Given the description of an element on the screen output the (x, y) to click on. 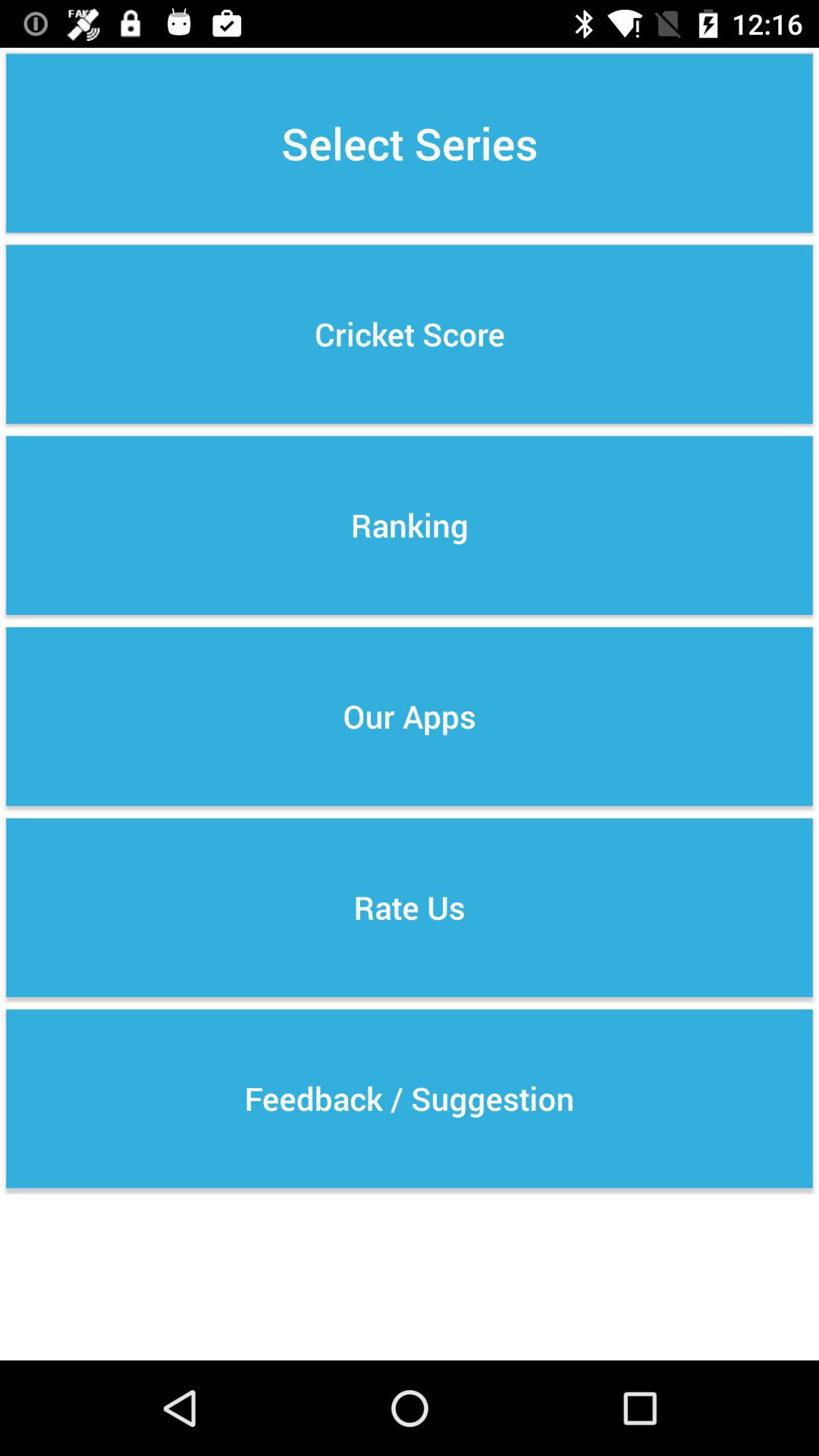
open the button above the cricket score item (409, 143)
